Given the description of an element on the screen output the (x, y) to click on. 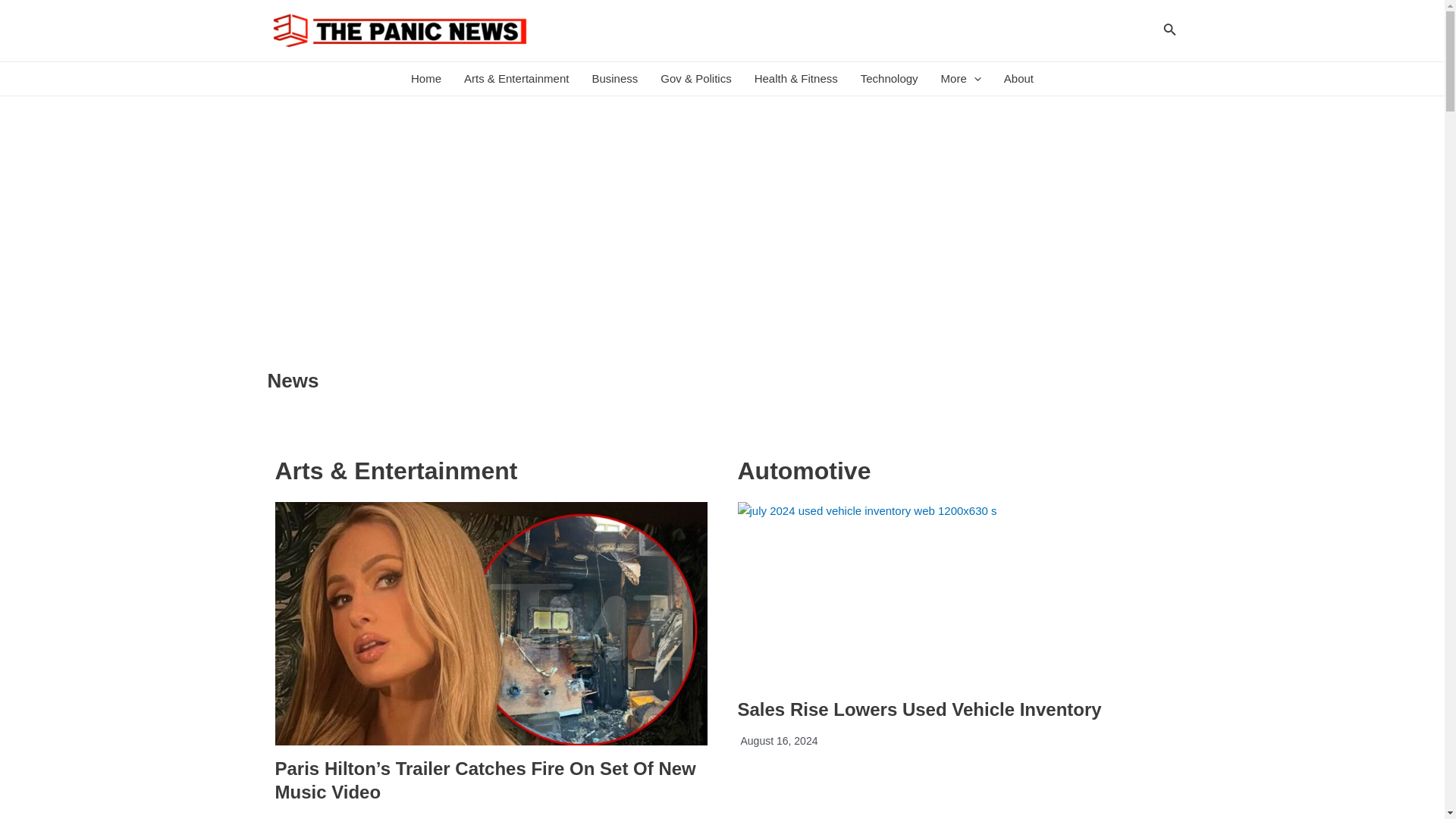
Technology (889, 78)
About (1018, 78)
More (961, 78)
Business (614, 78)
Home (425, 78)
